Given the description of an element on the screen output the (x, y) to click on. 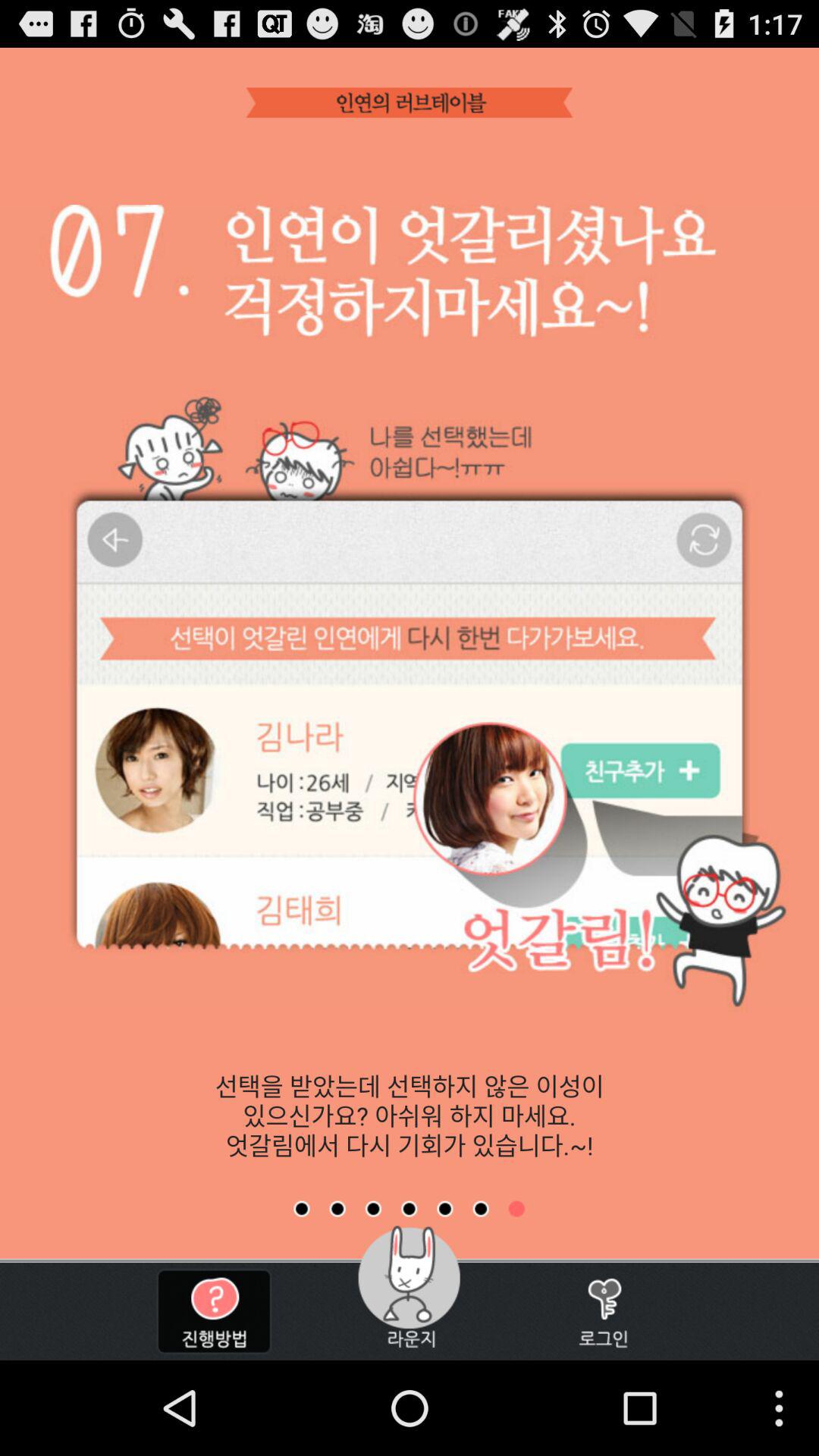
go back to page four (409, 1208)
